Given the description of an element on the screen output the (x, y) to click on. 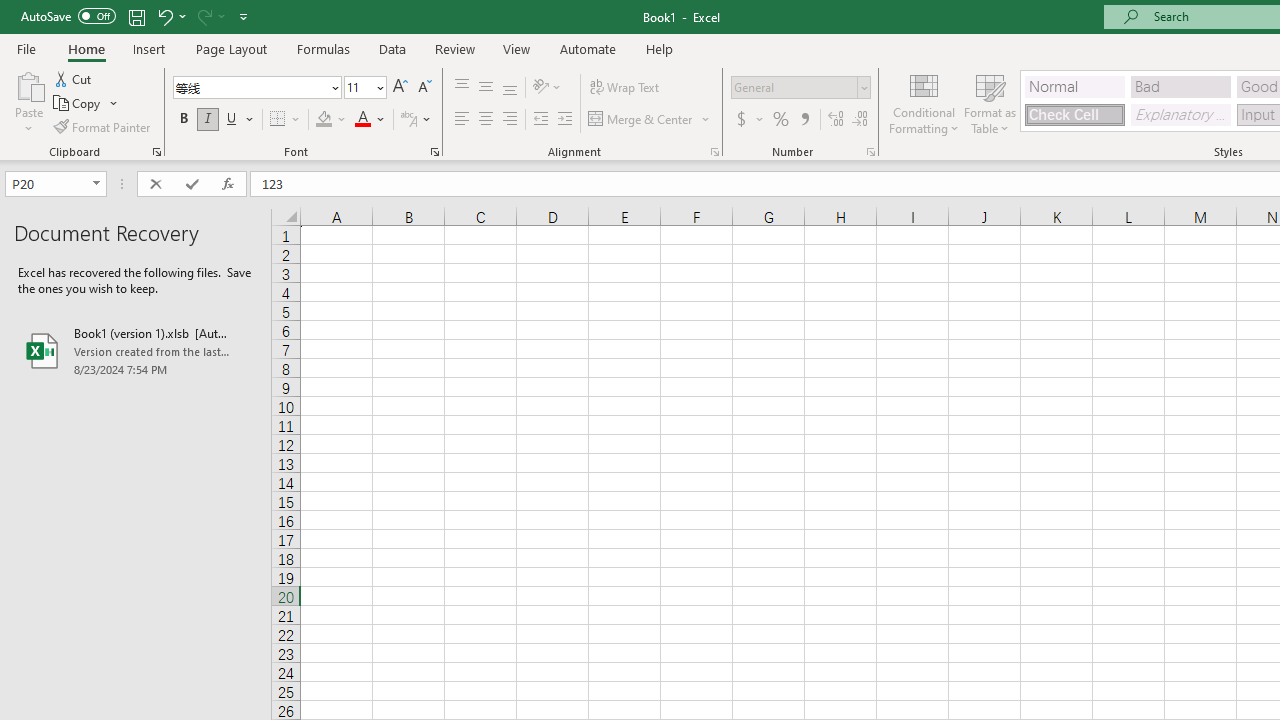
Increase Font Size (399, 87)
Explanatory Text (1180, 114)
Decrease Decimal (859, 119)
Font Size (358, 87)
File Tab (26, 48)
Orientation (547, 87)
Conditional Formatting (924, 102)
Help (660, 48)
Align Right (509, 119)
Formulas (323, 48)
Format as Table (990, 102)
Review (454, 48)
